Given the description of an element on the screen output the (x, y) to click on. 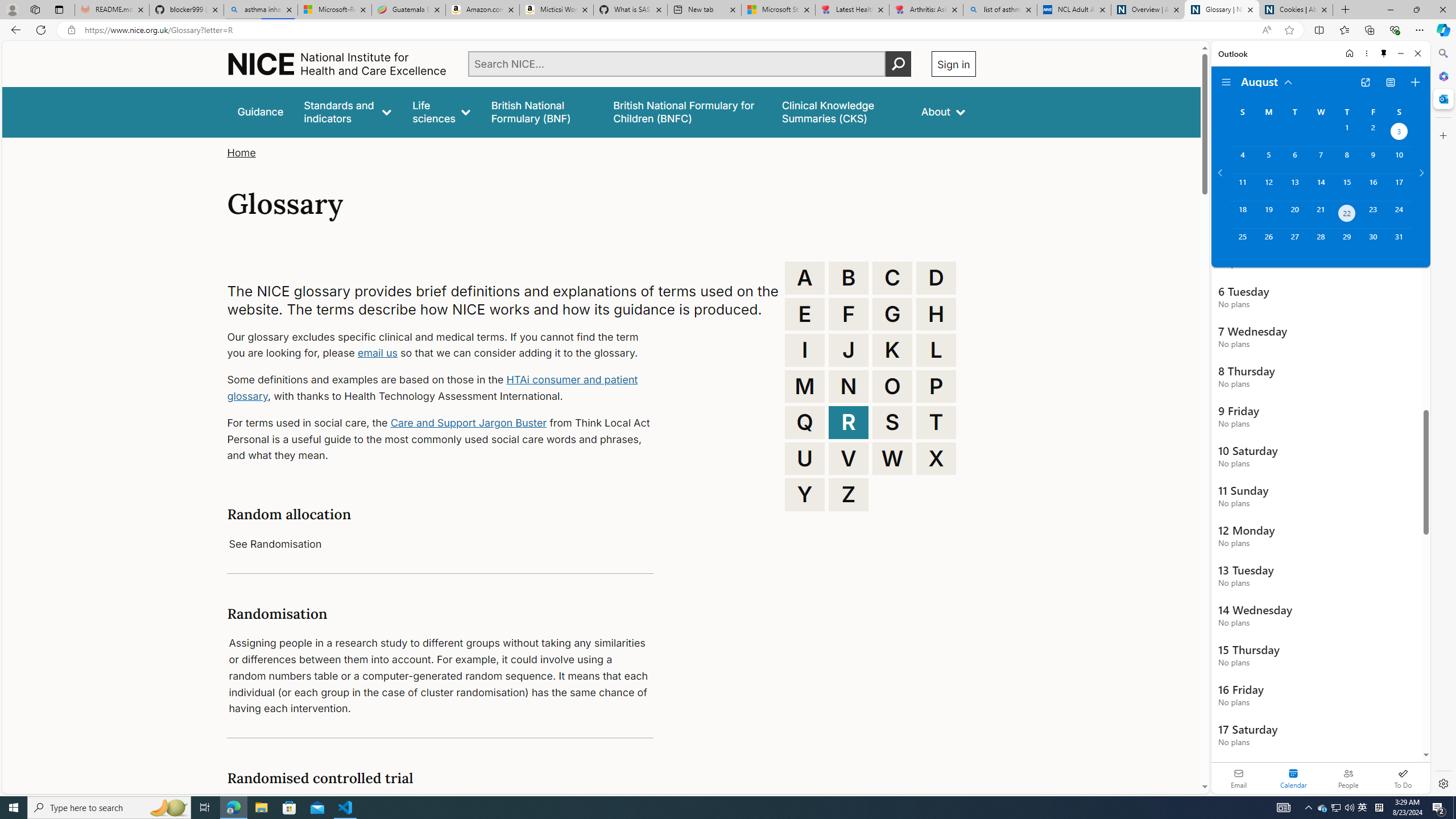
email us (376, 353)
Favorites (1344, 29)
Life sciences (440, 111)
Saturday, August 24, 2024.  (1399, 214)
H (935, 313)
Unpin side pane (1383, 53)
View Switcher. Current view is Agenda view (1390, 82)
V (848, 458)
Wednesday, August 14, 2024.  (1320, 186)
V (848, 458)
Friday, August 16, 2024.  (1372, 186)
E (804, 313)
